Given the description of an element on the screen output the (x, y) to click on. 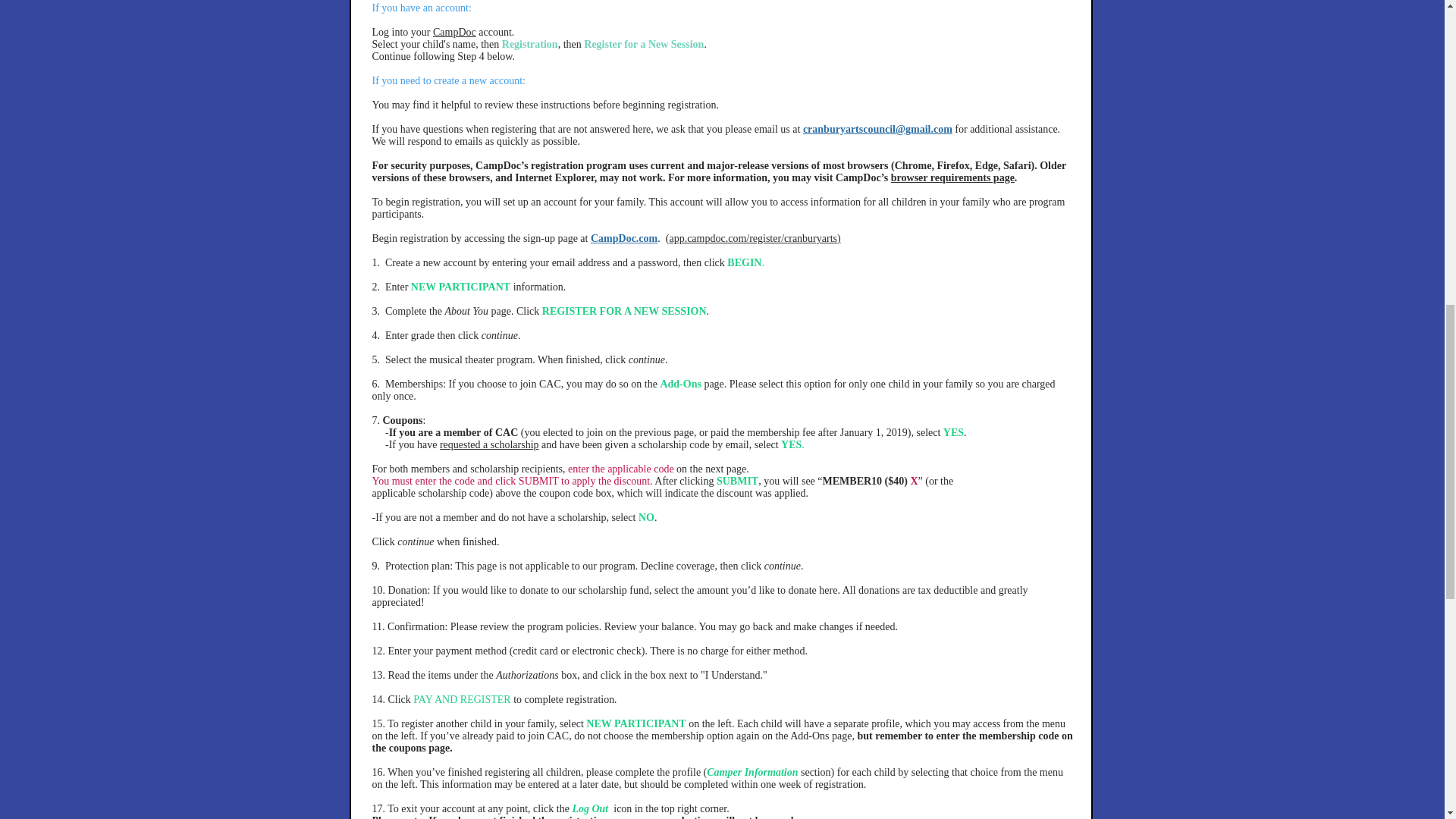
CampDoc.com (624, 238)
CampDoc (454, 31)
requested a scholarship (488, 444)
browser requirements page (952, 177)
